Given the description of an element on the screen output the (x, y) to click on. 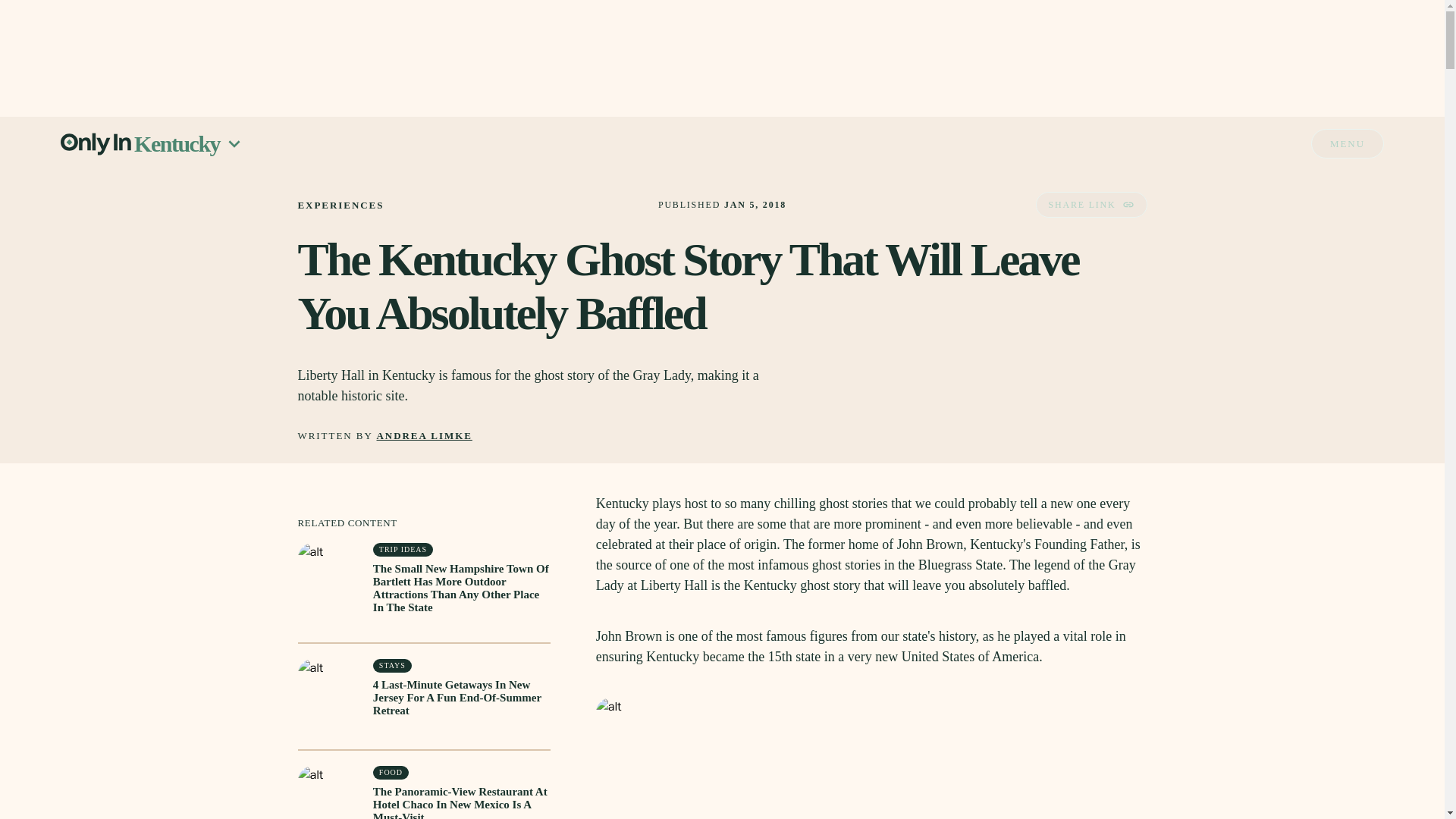
SHARE LINK (1091, 204)
EXPERIENCES (340, 204)
MENU (1347, 143)
ANDREA LIMKE (424, 436)
